Given the description of an element on the screen output the (x, y) to click on. 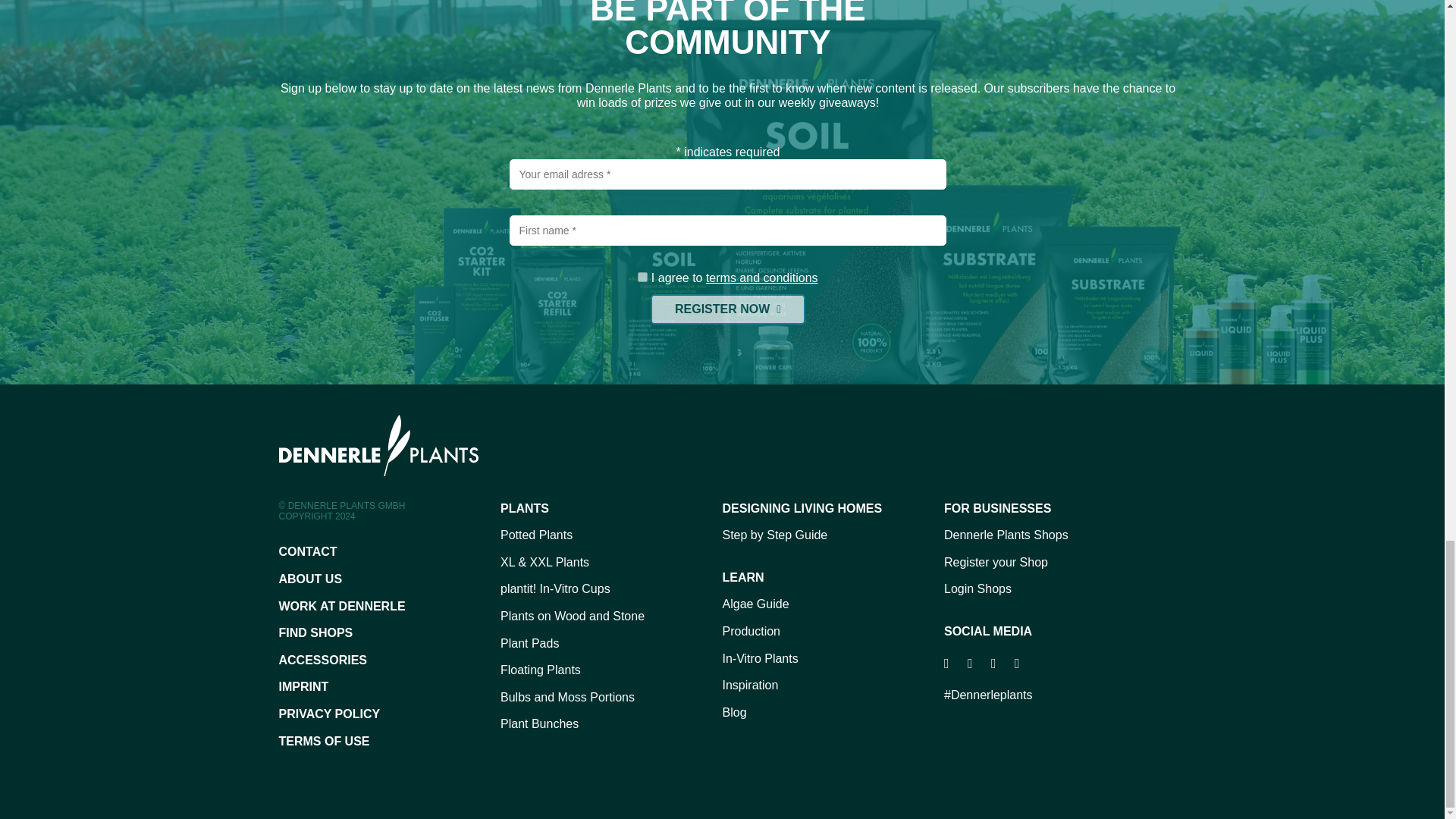
IMPRINT (389, 686)
REGISTER NOW   (727, 309)
ACCESSORIES (389, 660)
Potted Plants (611, 535)
WORK AT DENNERLE (389, 606)
CONTACT (389, 551)
on (642, 276)
PLANTS (611, 508)
PRIVACY POLICY (389, 713)
TERMS OF USE (389, 741)
